Given the description of an element on the screen output the (x, y) to click on. 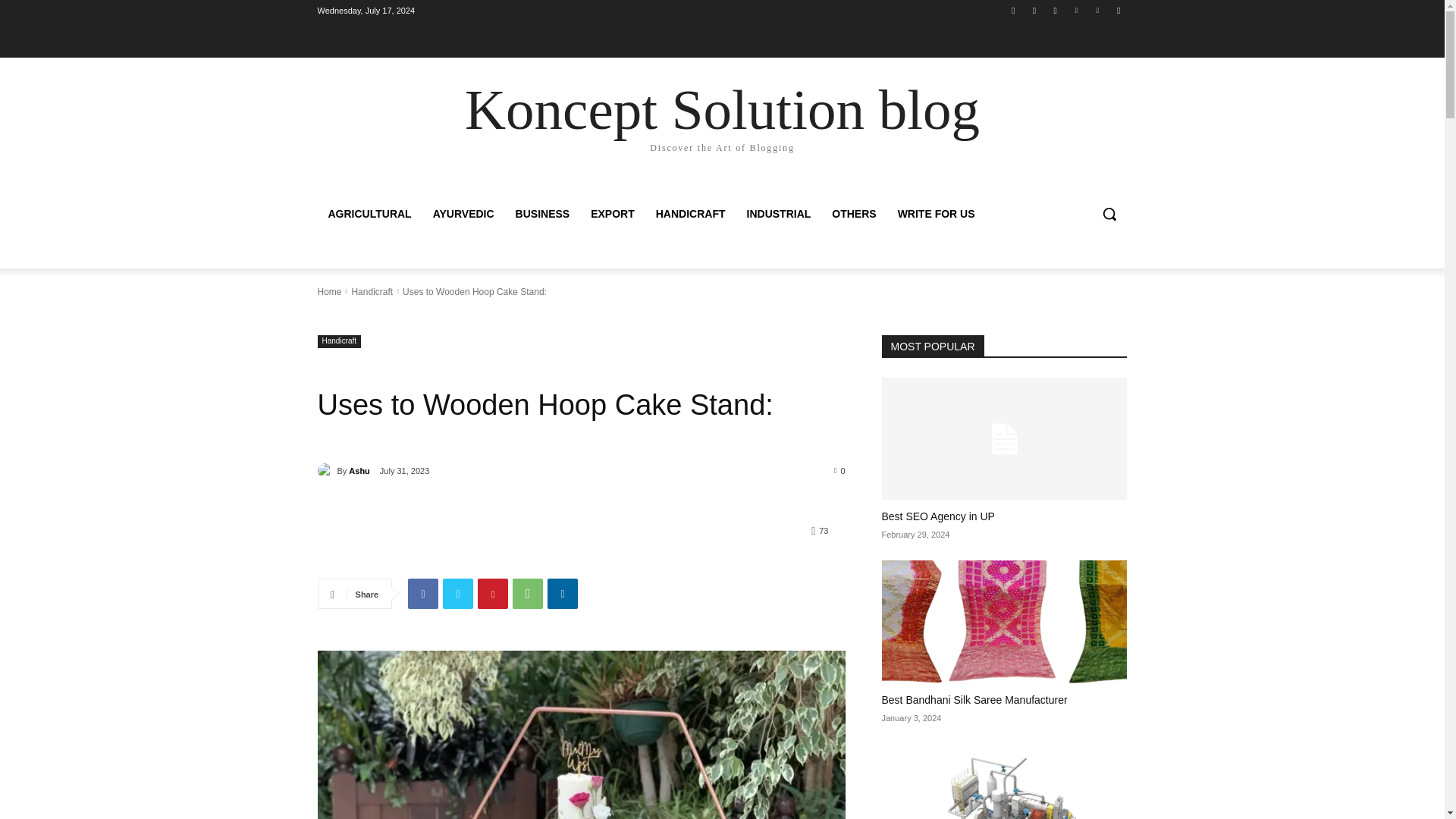
WRITE FOR US (935, 213)
AYURVEDIC (463, 213)
Linkedin (1075, 9)
OTHERS (853, 213)
Handicraft (339, 341)
Pinterest (1097, 9)
Twitter (1055, 9)
Ashu (326, 470)
AGRICULTURAL (369, 213)
Instagram (1034, 9)
WhatsApp (527, 593)
Facebook (422, 593)
INDUSTRIAL (779, 213)
Handicraft (371, 291)
0 (839, 470)
